Given the description of an element on the screen output the (x, y) to click on. 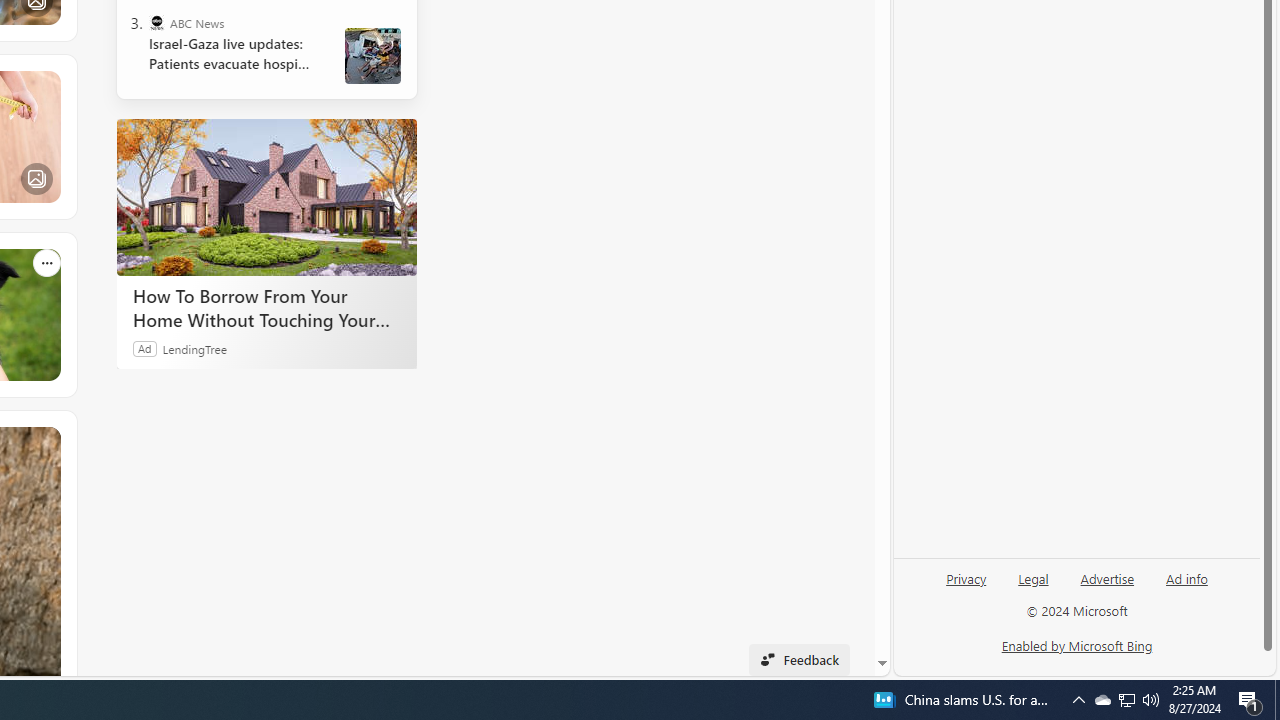
Legal (1033, 577)
Privacy (965, 577)
Feedback (798, 659)
Ad info (1187, 577)
Advertise (1106, 586)
See more (46, 440)
Ad info (1186, 586)
Privacy (966, 586)
Ad (145, 348)
Advertise (1107, 577)
How To Borrow From Your Home Without Touching Your Mortgage (266, 307)
How To Borrow From Your Home Without Touching Your Mortgage (266, 196)
